Given the description of an element on the screen output the (x, y) to click on. 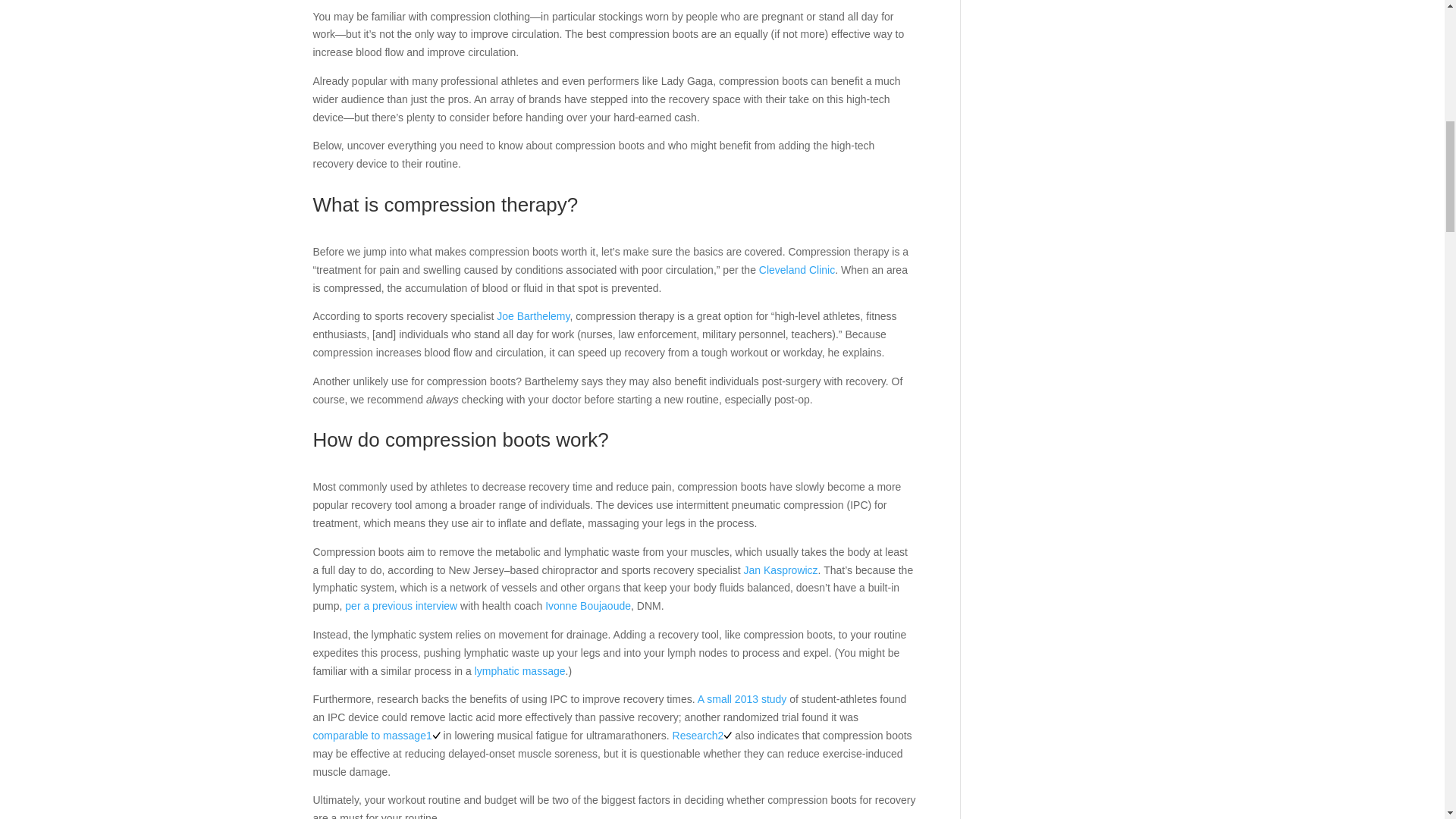
2 (724, 735)
lymphatic massage (520, 671)
Ivonne Boujaoude (587, 605)
Jan Kasprowicz (781, 570)
comparable to massage (369, 735)
per a previous interview (401, 605)
1 (433, 735)
Joe Barthelemy (532, 316)
Cleveland Clinic (796, 269)
A small 2013 study (742, 698)
Research (694, 735)
